Given the description of an element on the screen output the (x, y) to click on. 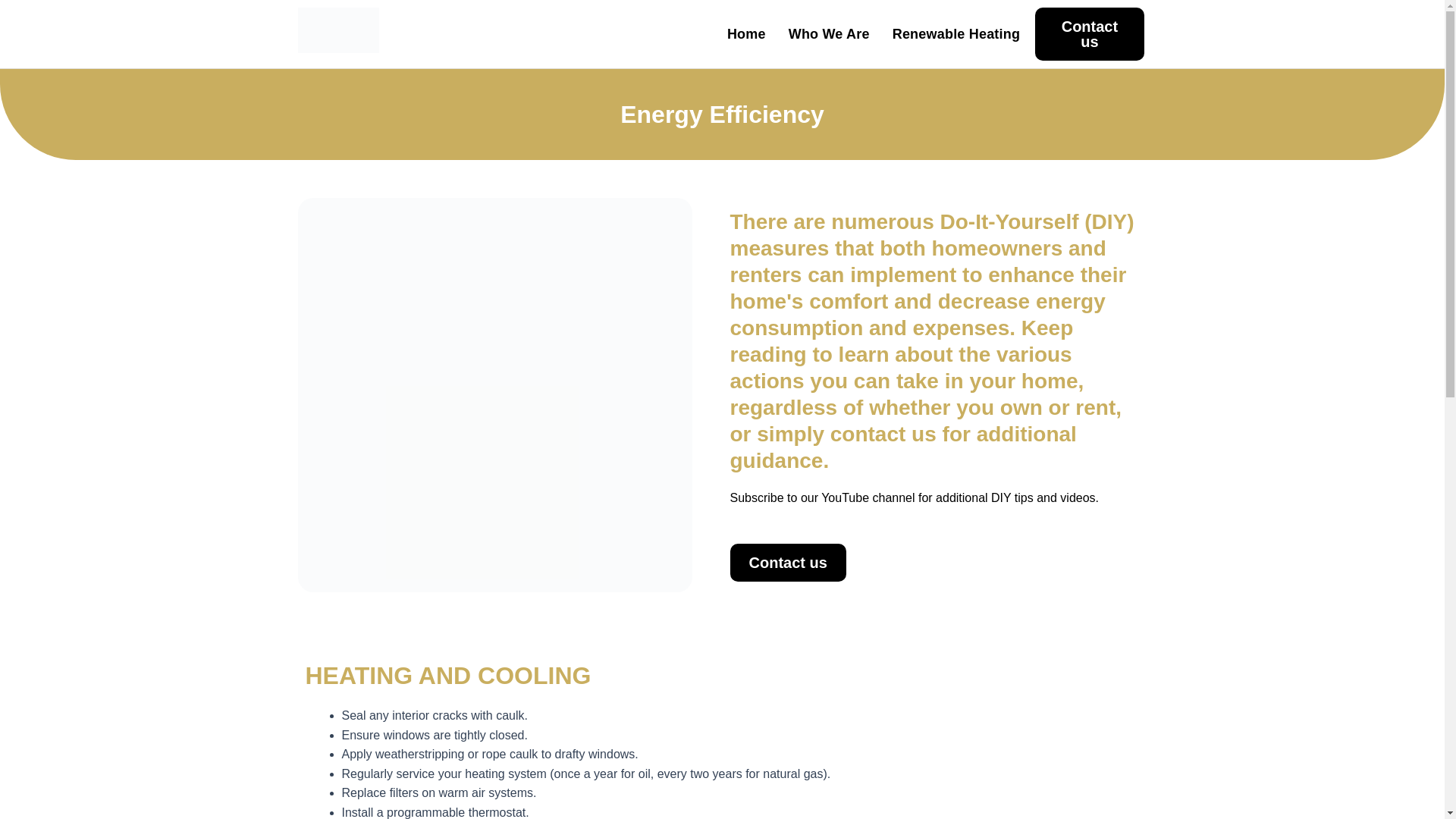
Contact us (1089, 33)
Renewable Heating (956, 33)
Contact us (787, 562)
Who We Are (829, 33)
Home (745, 33)
